Given the description of an element on the screen output the (x, y) to click on. 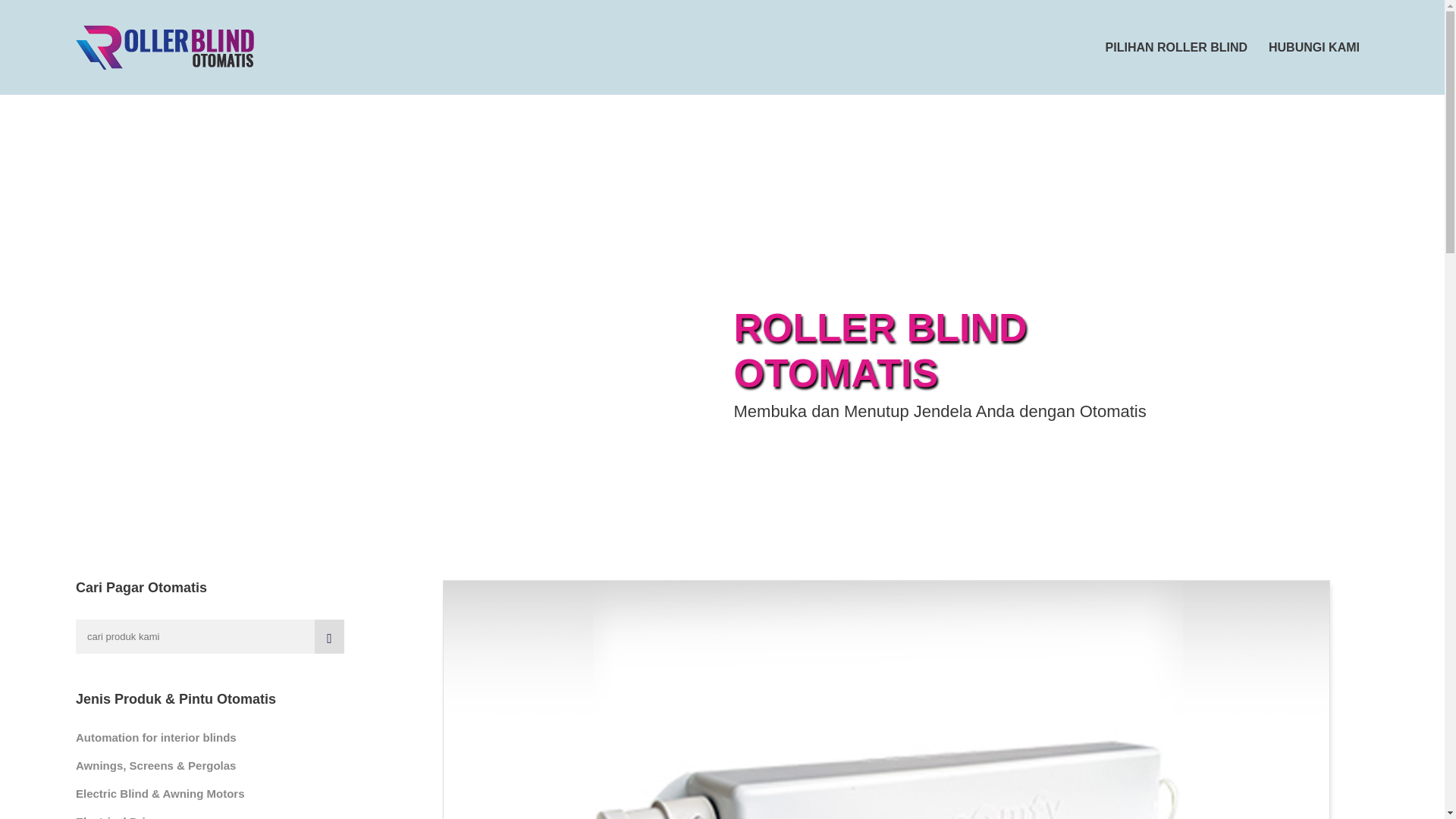
ROLLER BLIND OTOMATIS (164, 47)
HUBUNGI KAMI (1313, 47)
PILIHAN ROLLER BLIND (1176, 47)
Electrical Drives (119, 816)
Automation for interior blinds (155, 737)
